Given the description of an element on the screen output the (x, y) to click on. 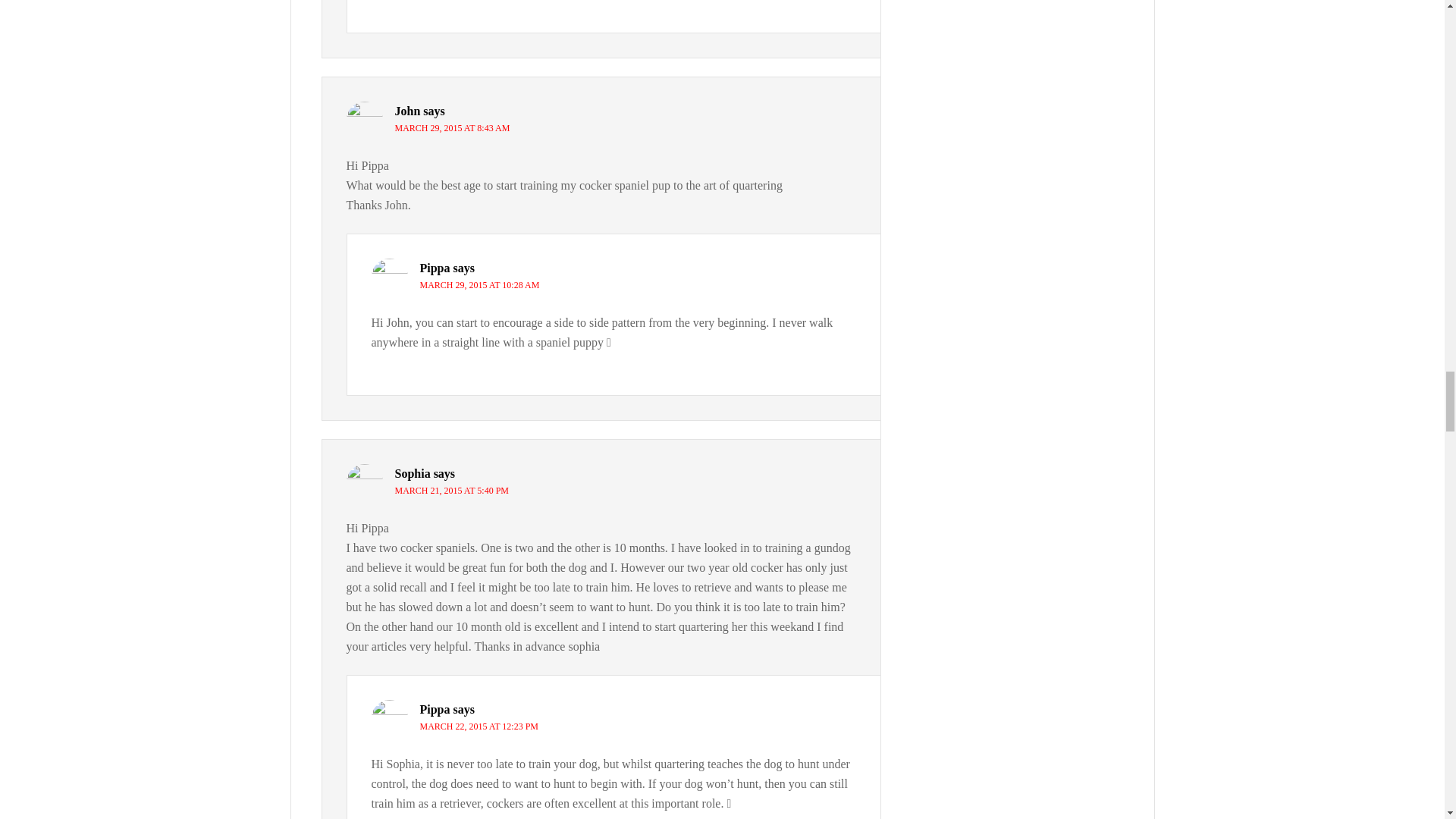
MARCH 21, 2015 AT 5:40 PM (451, 490)
MARCH 29, 2015 AT 8:43 AM (451, 127)
MARCH 29, 2015 AT 10:28 AM (480, 285)
MARCH 22, 2015 AT 12:23 PM (479, 726)
